Given the description of an element on the screen output the (x, y) to click on. 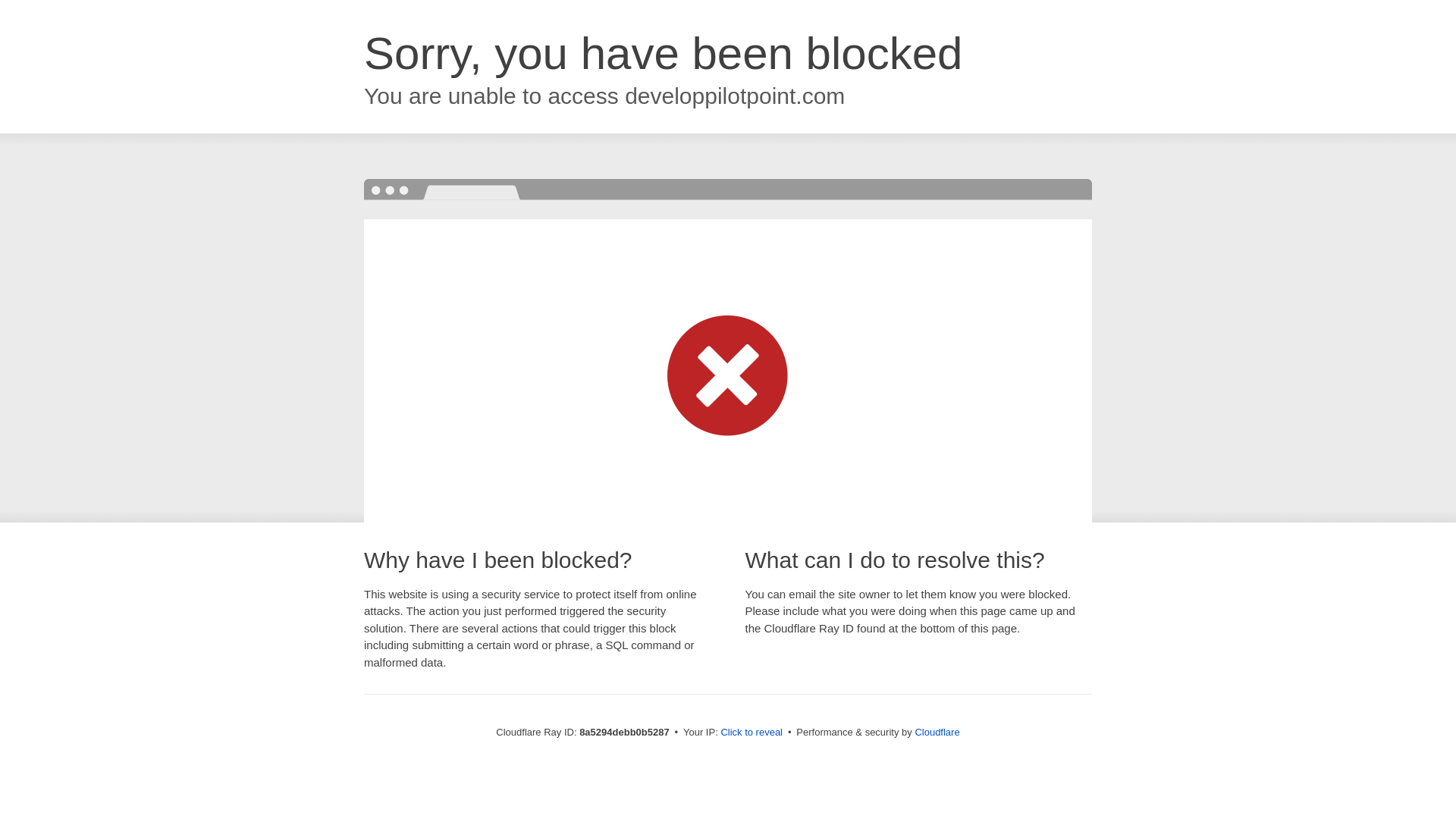
Click to reveal (751, 732)
Cloudflare (936, 731)
